Given the description of an element on the screen output the (x, y) to click on. 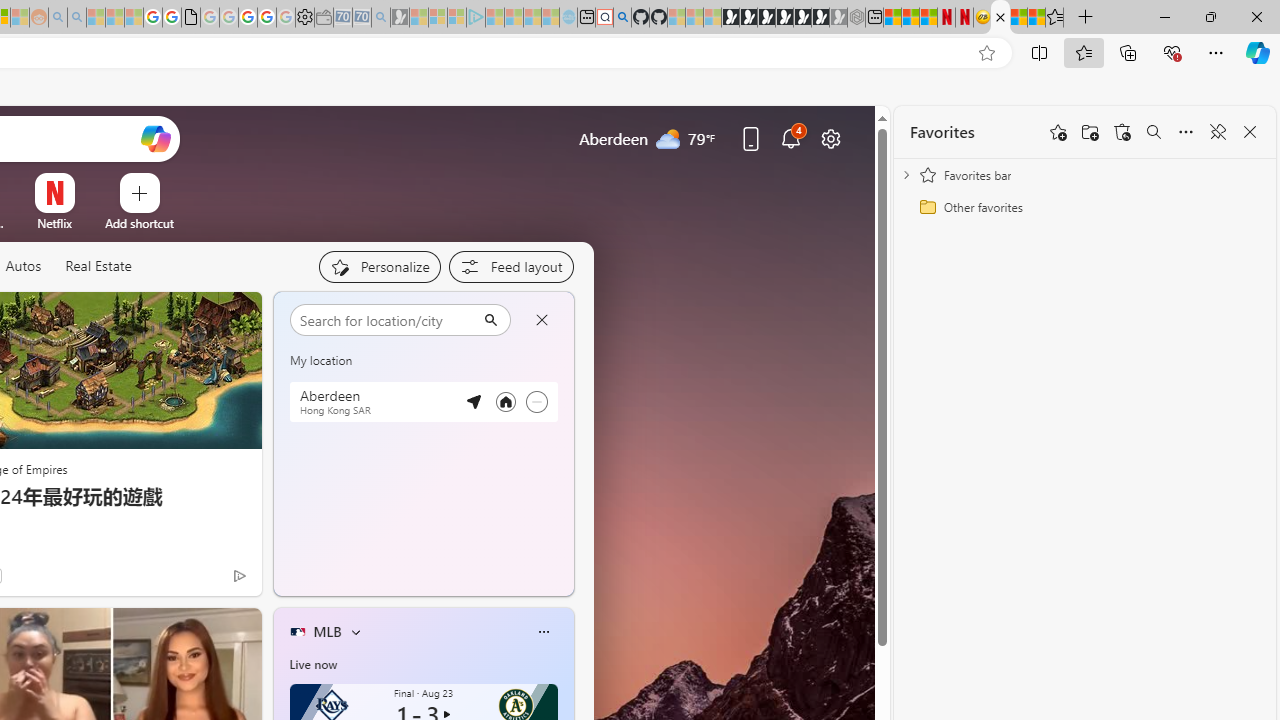
Feed settings (510, 266)
Shanghai (319, 315)
Search favorites (1153, 132)
github - Search (622, 17)
My location (362, 315)
Mostly cloudy (311, 368)
